Given the description of an element on the screen output the (x, y) to click on. 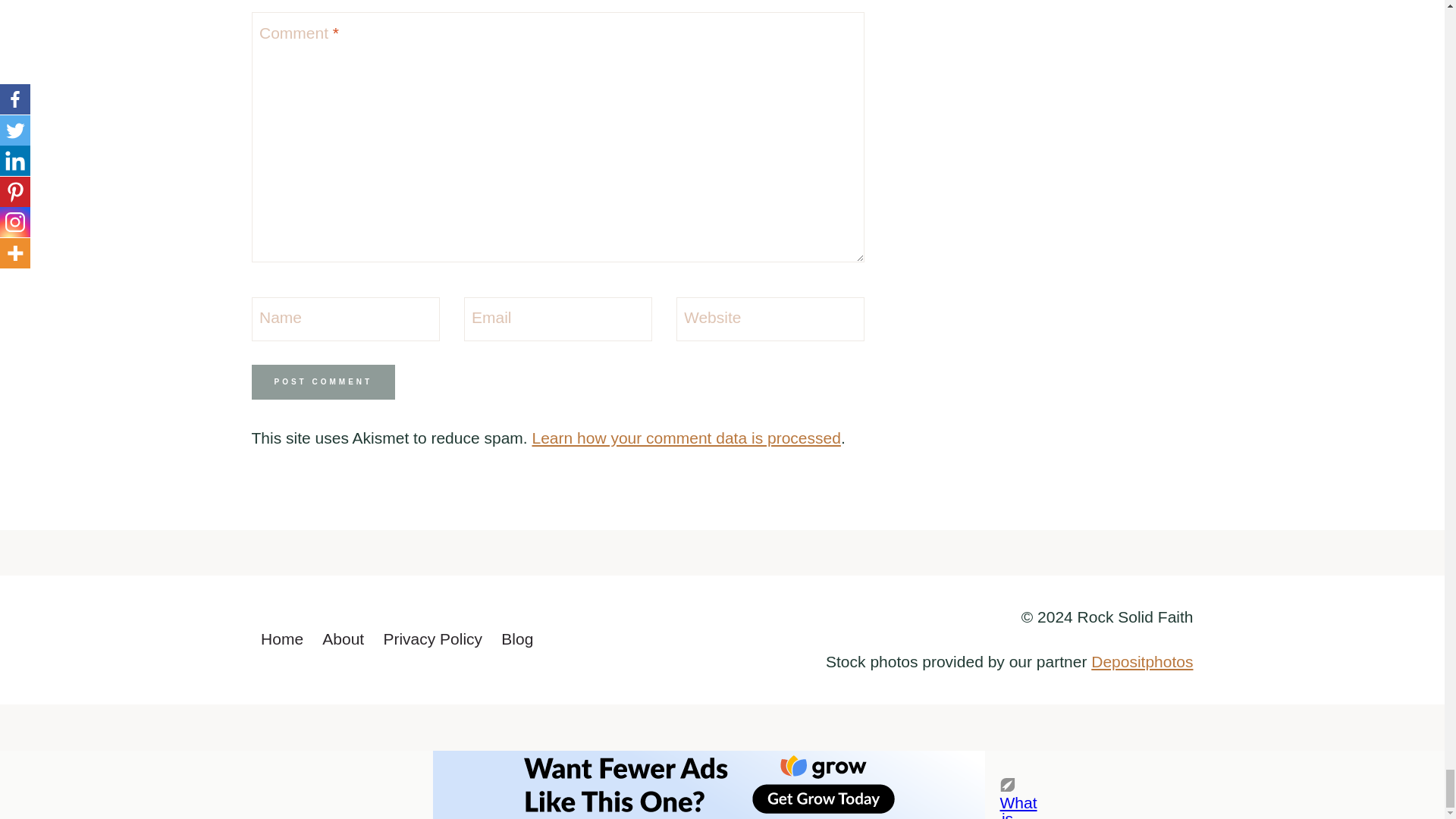
Post Comment (323, 381)
